Given the description of an element on the screen output the (x, y) to click on. 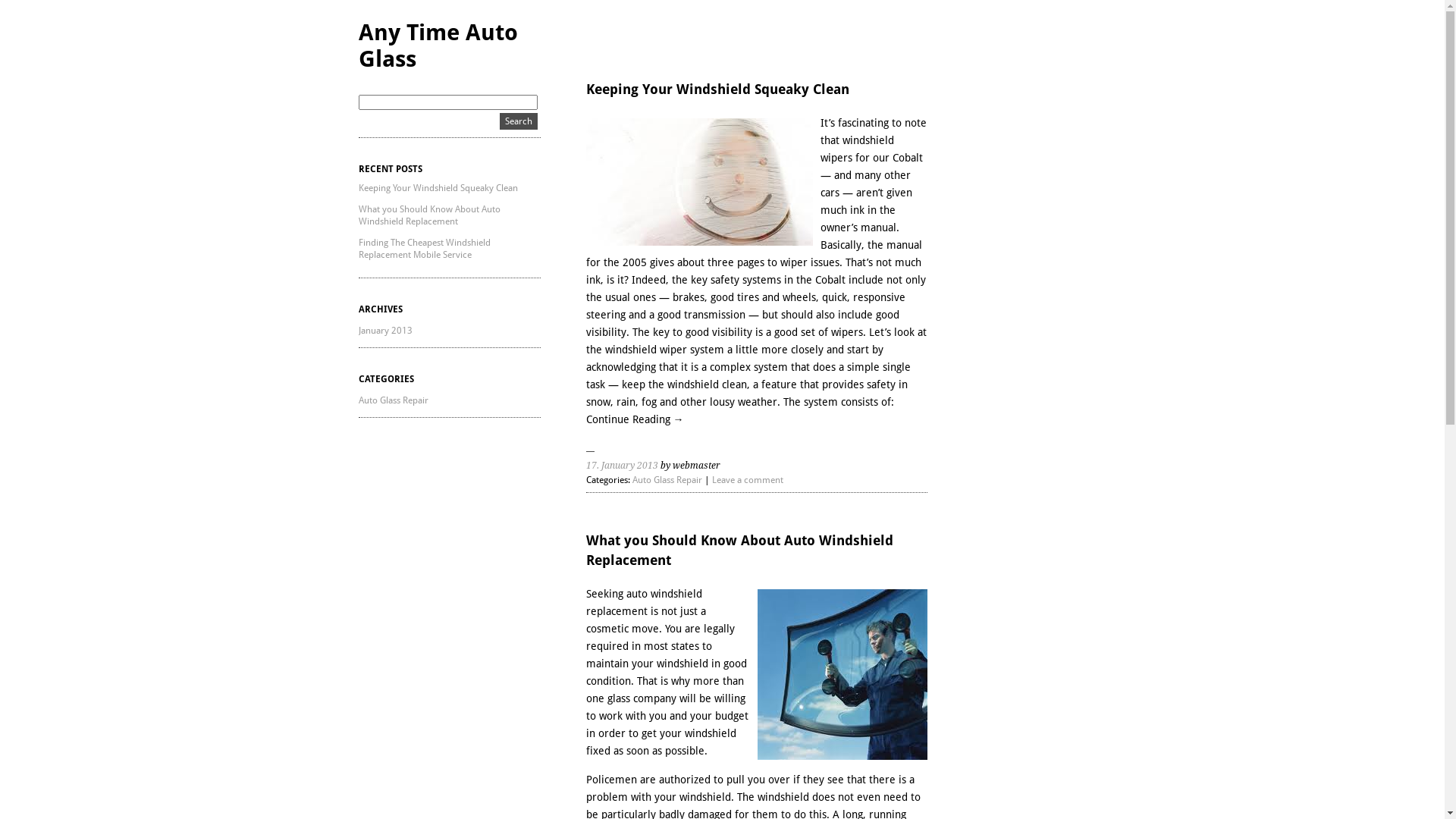
What you Should Know About Auto Windshield Replacement Element type: text (428, 214)
Finding The Cheapest Windshield Replacement Mobile Service Element type: text (423, 248)
Keeping Your Windshield Squeaky Clean Element type: text (716, 89)
Search Element type: text (517, 120)
Keeping Your Windshield Squeaky Clean Element type: text (437, 187)
What you Should Know About Auto Windshield Replacement Element type: text (738, 549)
Any Time Auto Glass Element type: text (437, 45)
Leave a comment Element type: text (746, 479)
Auto Glass Repair Element type: text (392, 400)
Auto Glass Repair Element type: text (667, 479)
January 2013 Element type: text (384, 330)
17. January 2013 Element type: text (621, 465)
